Given the description of an element on the screen output the (x, y) to click on. 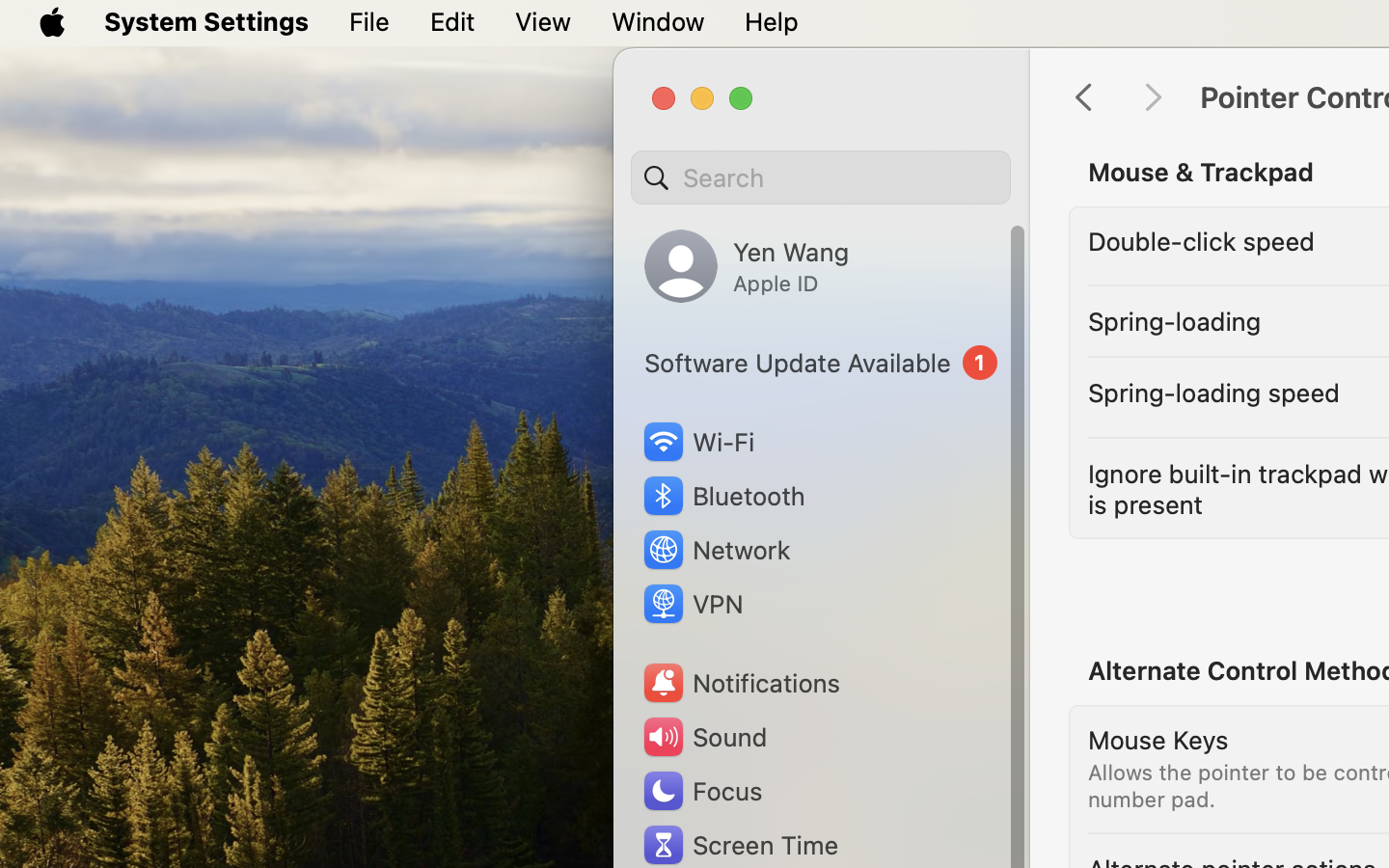
Yen Wang, Apple ID Element type: AXStaticText (746, 265)
VPN Element type: AXStaticText (691, 603)
Network Element type: AXStaticText (715, 549)
